Given the description of an element on the screen output the (x, y) to click on. 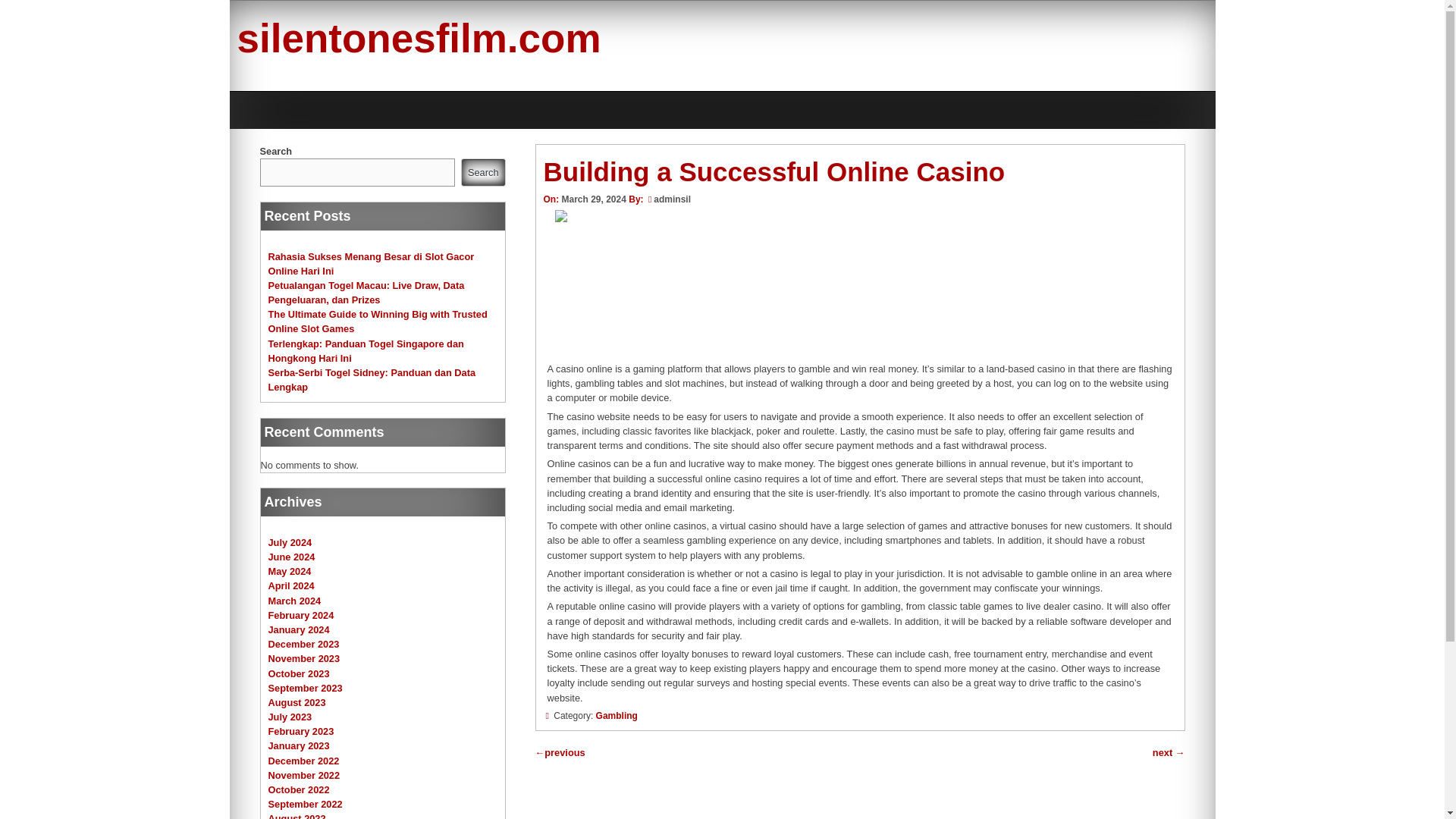
January 2023 (298, 745)
August 2022 (296, 816)
September 2022 (304, 803)
December 2023 (303, 644)
Rahasia Sukses Menang Besar di Slot Gacor Online Hari Ini (370, 263)
December 2022 (303, 760)
January 2024 (298, 629)
November 2022 (303, 775)
November 2023 (303, 658)
February 2024 (300, 614)
silentonesfilm.com (417, 37)
May 2024 (289, 571)
Gambling (616, 715)
October 2022 (298, 789)
